Given the description of an element on the screen output the (x, y) to click on. 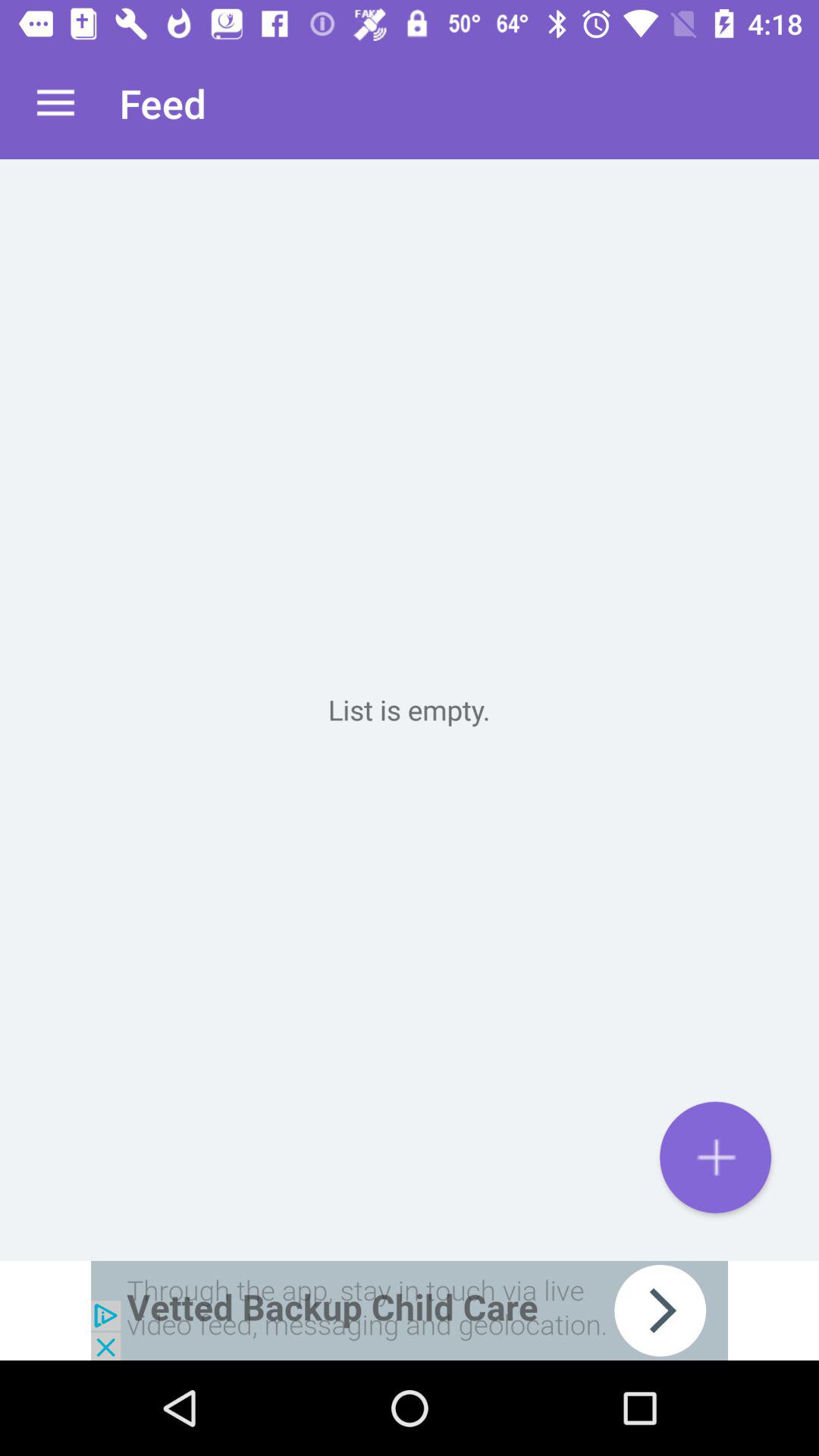
go to increase (715, 1157)
